Given the description of an element on the screen output the (x, y) to click on. 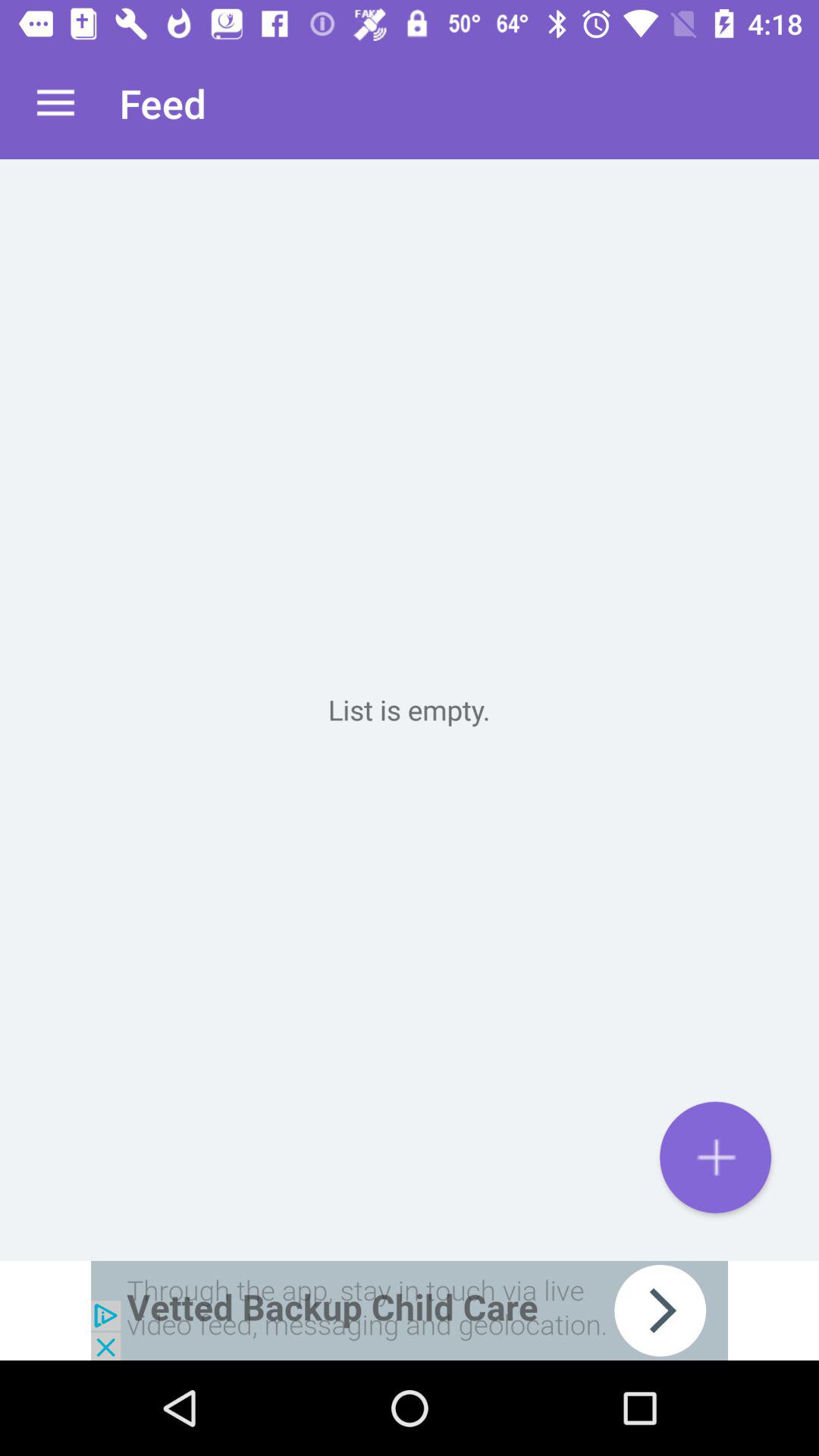
go to increase (715, 1157)
